Given the description of an element on the screen output the (x, y) to click on. 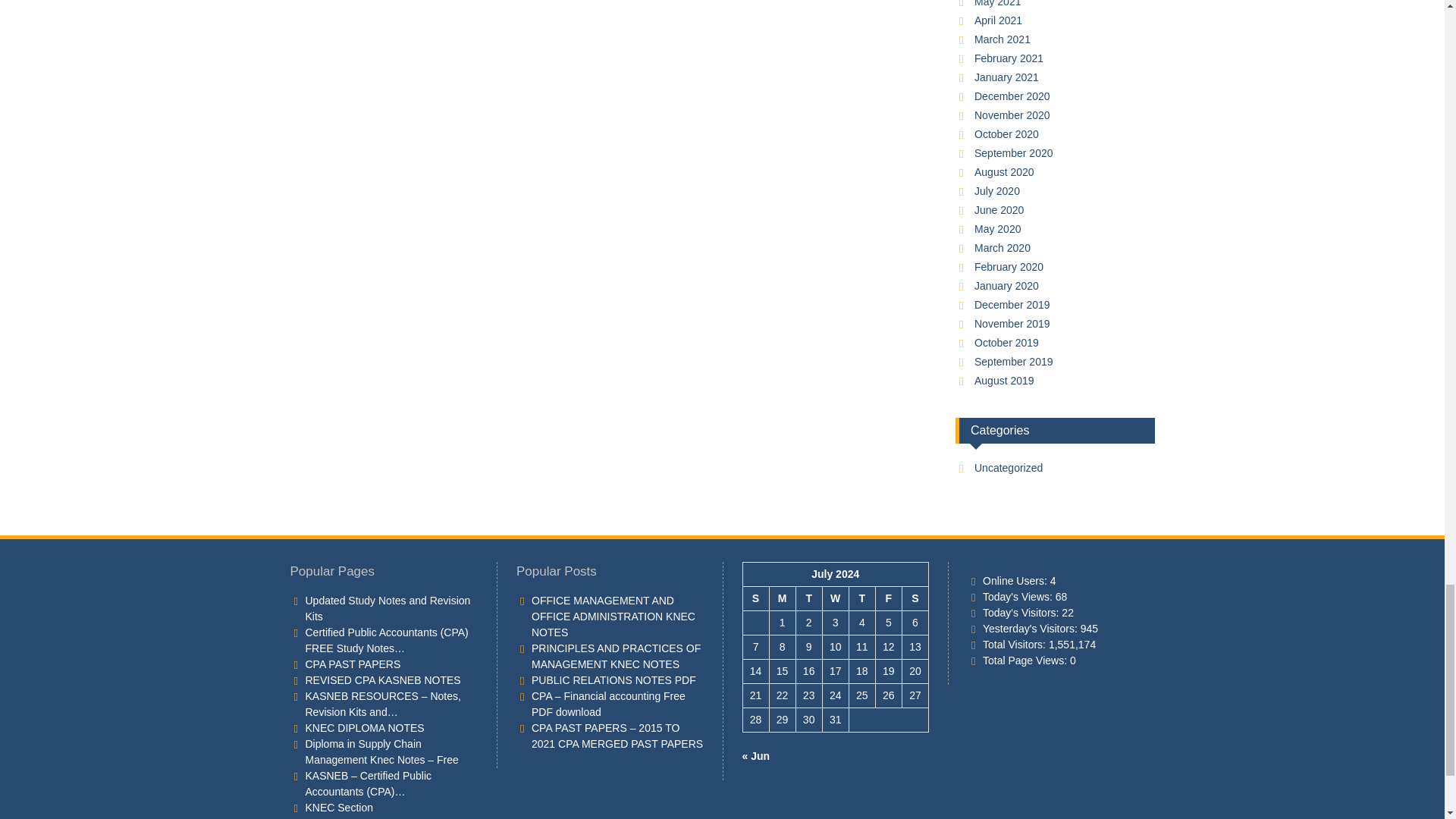
Tuesday (808, 598)
Thursday (861, 598)
Monday (781, 598)
Wednesday (835, 598)
Friday (888, 598)
Sunday (755, 598)
